Given the description of an element on the screen output the (x, y) to click on. 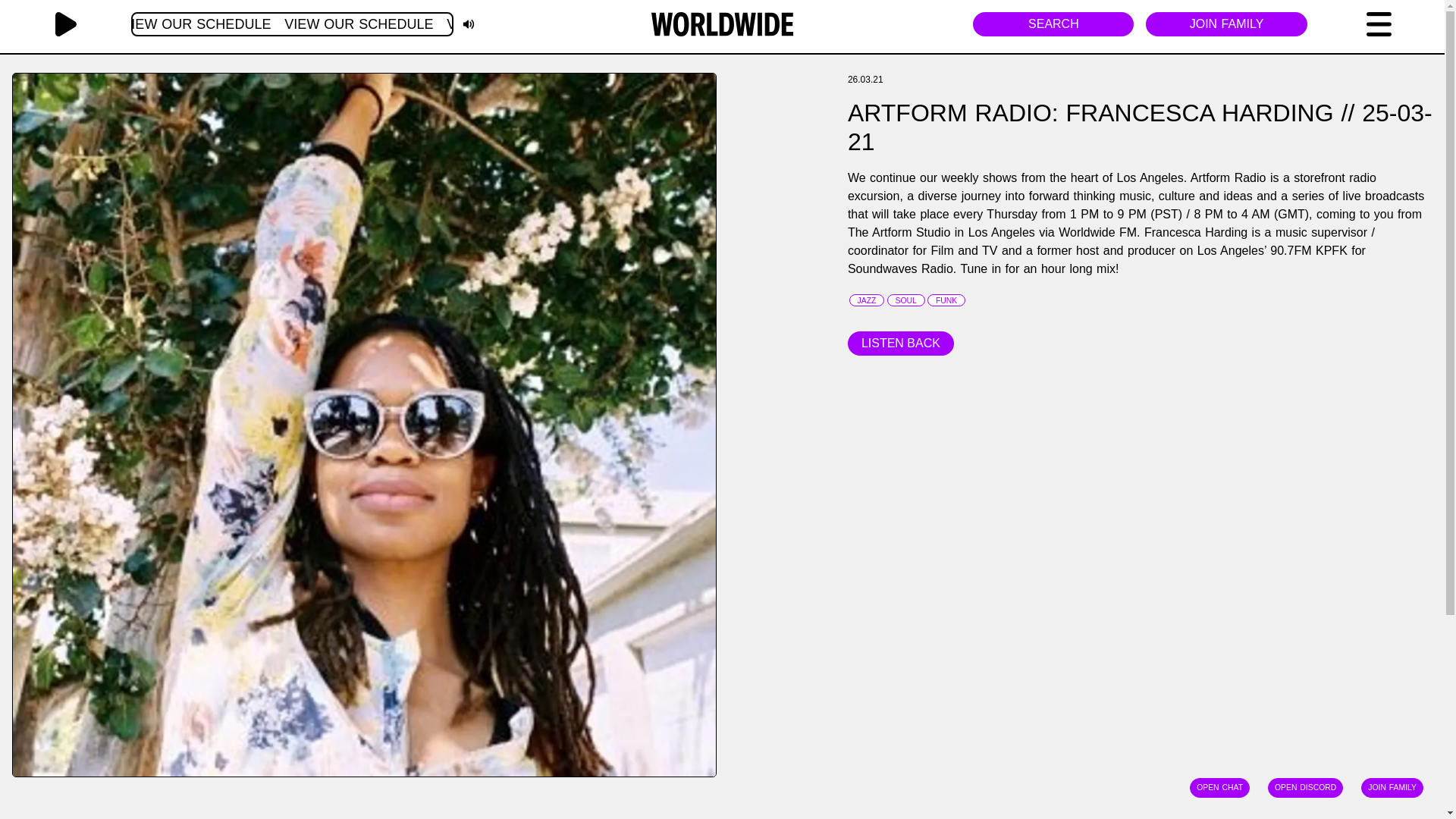
SOUL (906, 300)
Mute (468, 21)
JOIN FAMILY (1392, 787)
LISTEN BACK (900, 343)
SEARCH (1053, 24)
FUNK (946, 300)
JAZZ (291, 26)
JOIN FAMILY (866, 300)
OPEN DISCORD (1225, 24)
